Given the description of an element on the screen output the (x, y) to click on. 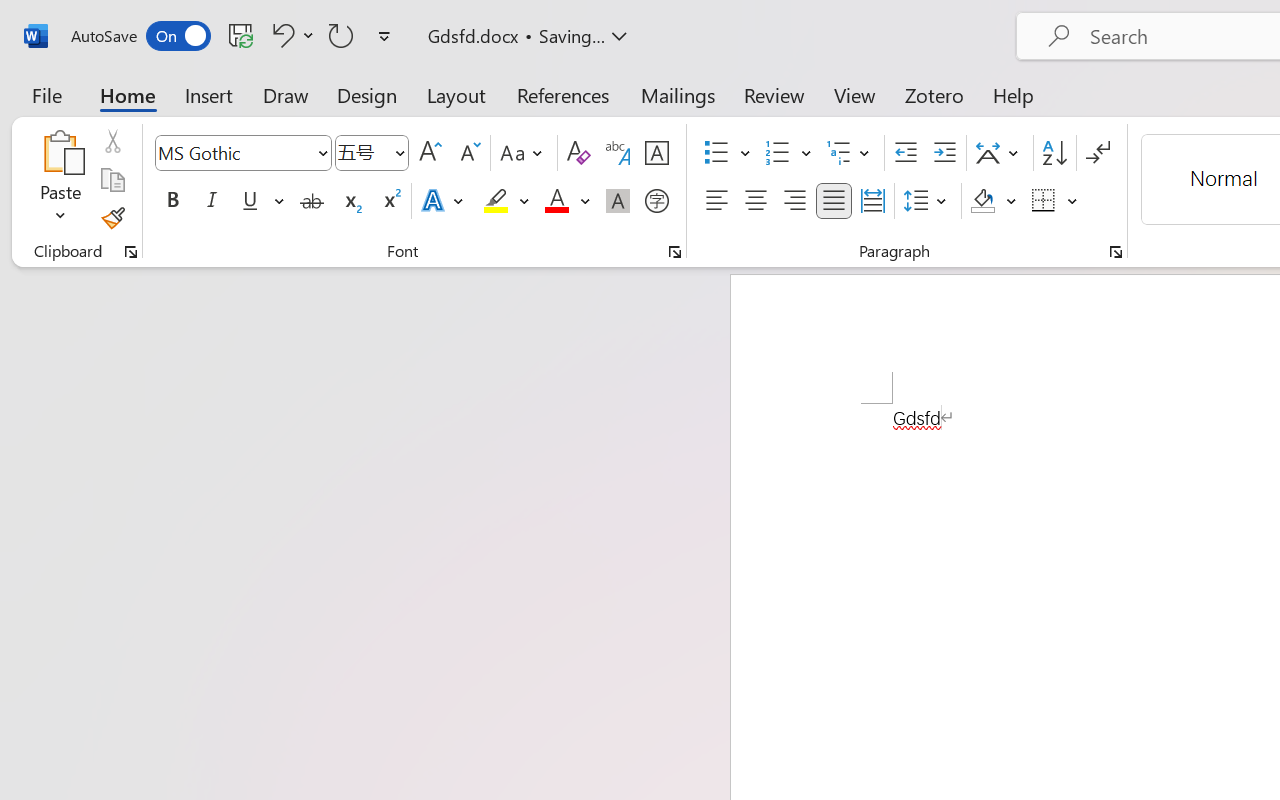
Clear Formatting (578, 153)
Show/Hide Editing Marks (1098, 153)
Increase Indent (944, 153)
Distributed (872, 201)
Multilevel List (850, 153)
Text Highlight Color (506, 201)
